Given the description of an element on the screen output the (x, y) to click on. 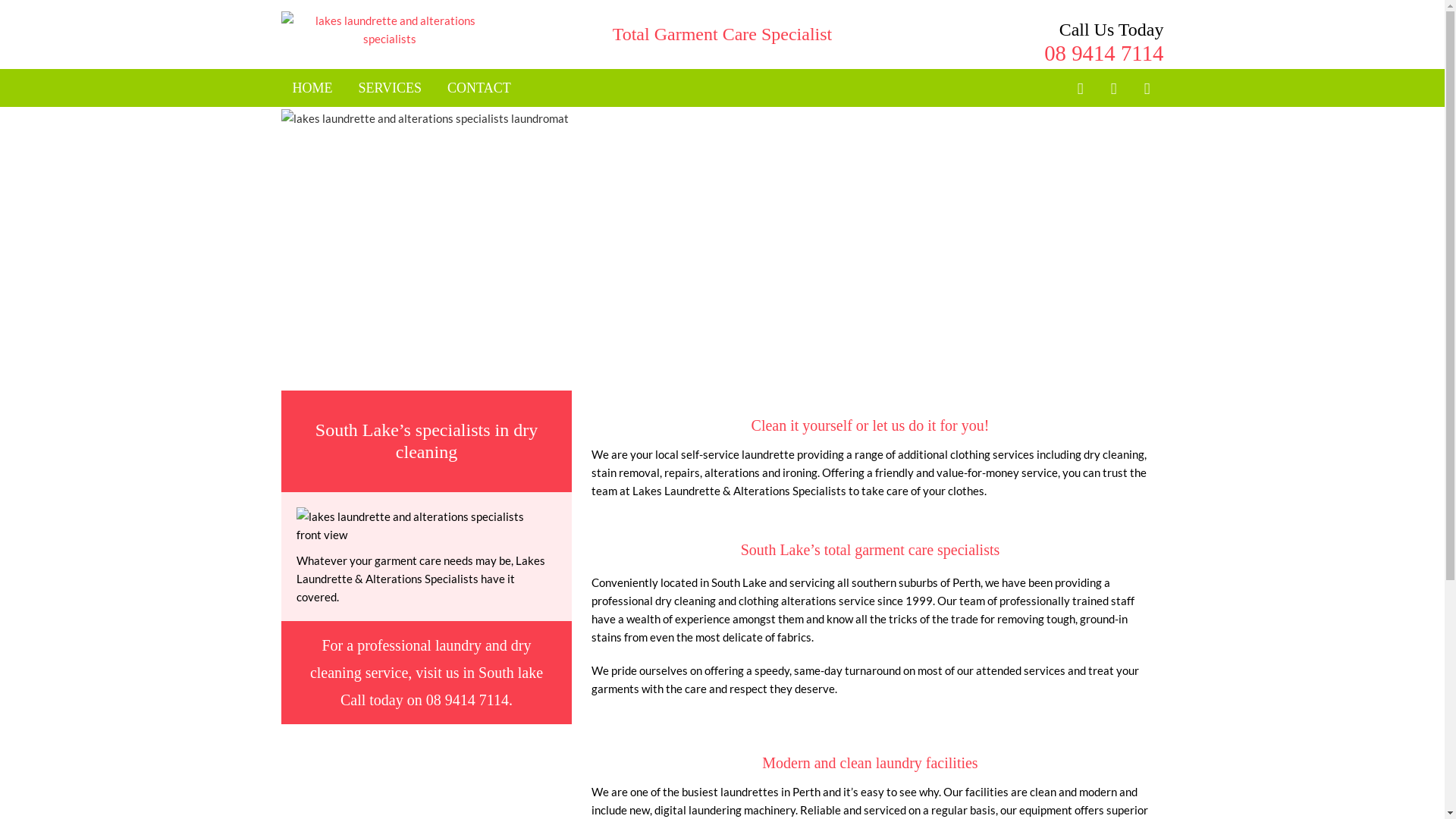
lakes laundrette and alterations specialists Element type: hover (389, 29)
lakes laundrette and alterations specialists front view Element type: hover (422, 525)
CONTACT Element type: text (479, 87)
HOME Element type: text (312, 87)
08 9414 7114 Element type: text (467, 699)
08 9414 7114 Element type: text (1103, 52)
lakes laundrette and alterations specialists laundromat Element type: hover (721, 249)
SERVICES Element type: text (389, 87)
